Given the description of an element on the screen output the (x, y) to click on. 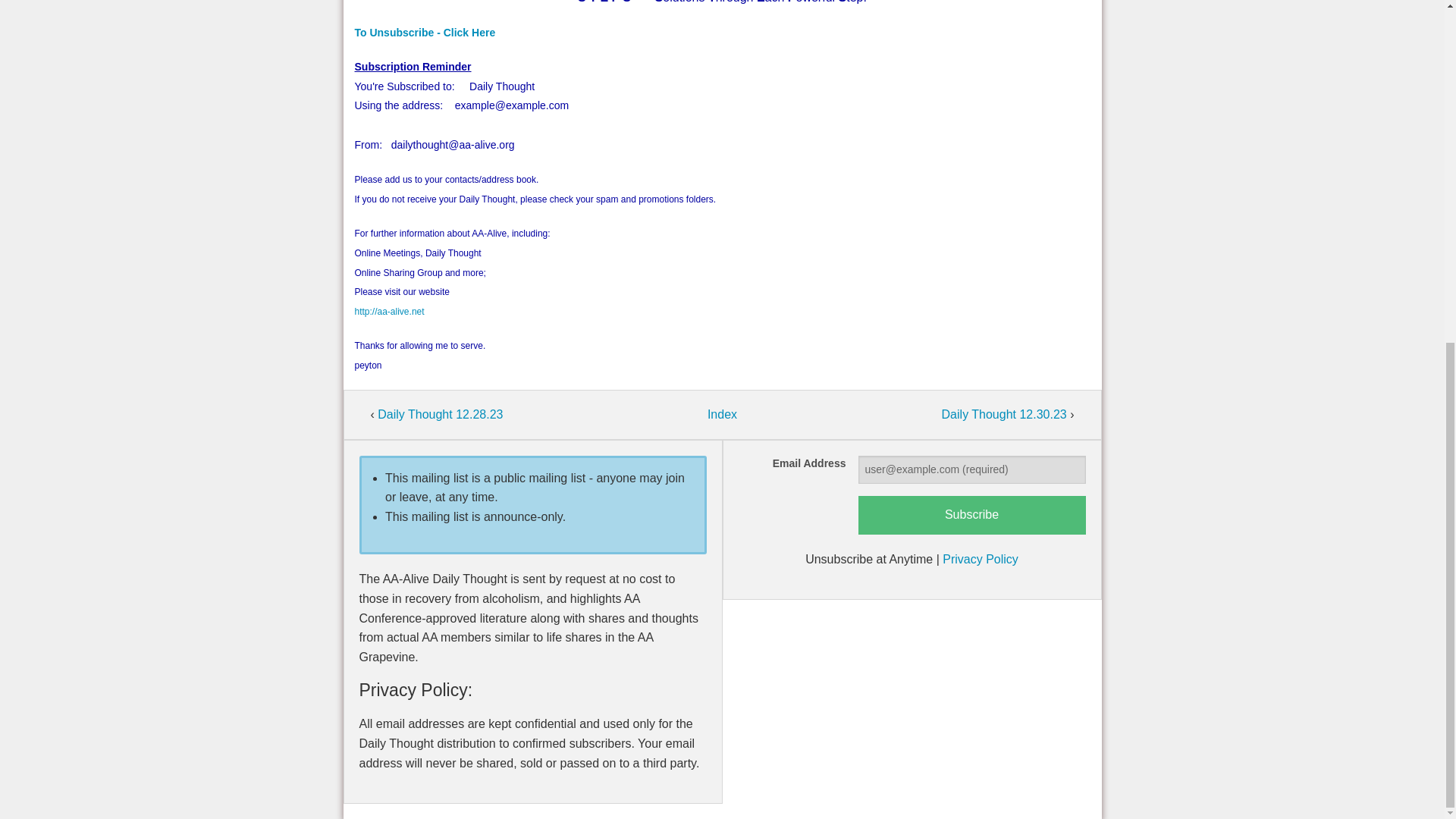
Subscribe (972, 515)
To Unsubscribe - Click Here (425, 32)
Daily Thought 12.28.23 (439, 413)
Privacy Policy (979, 558)
Subscribe (972, 515)
Daily Thought 12.30.23 (1006, 413)
Index (721, 413)
